Given the description of an element on the screen output the (x, y) to click on. 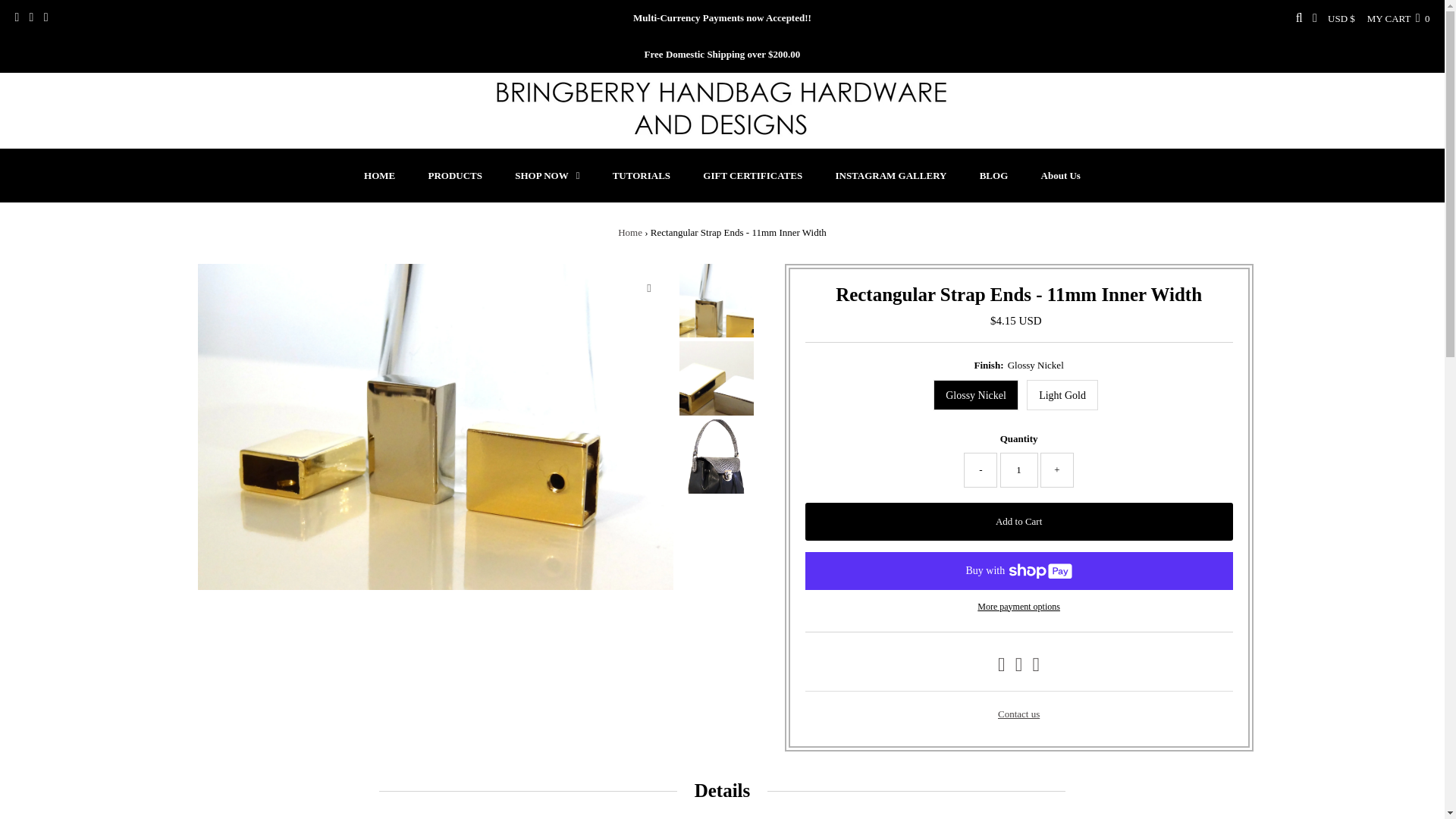
Home (629, 232)
1 (1019, 469)
Add to Cart (1019, 521)
